Given the description of an element on the screen output the (x, y) to click on. 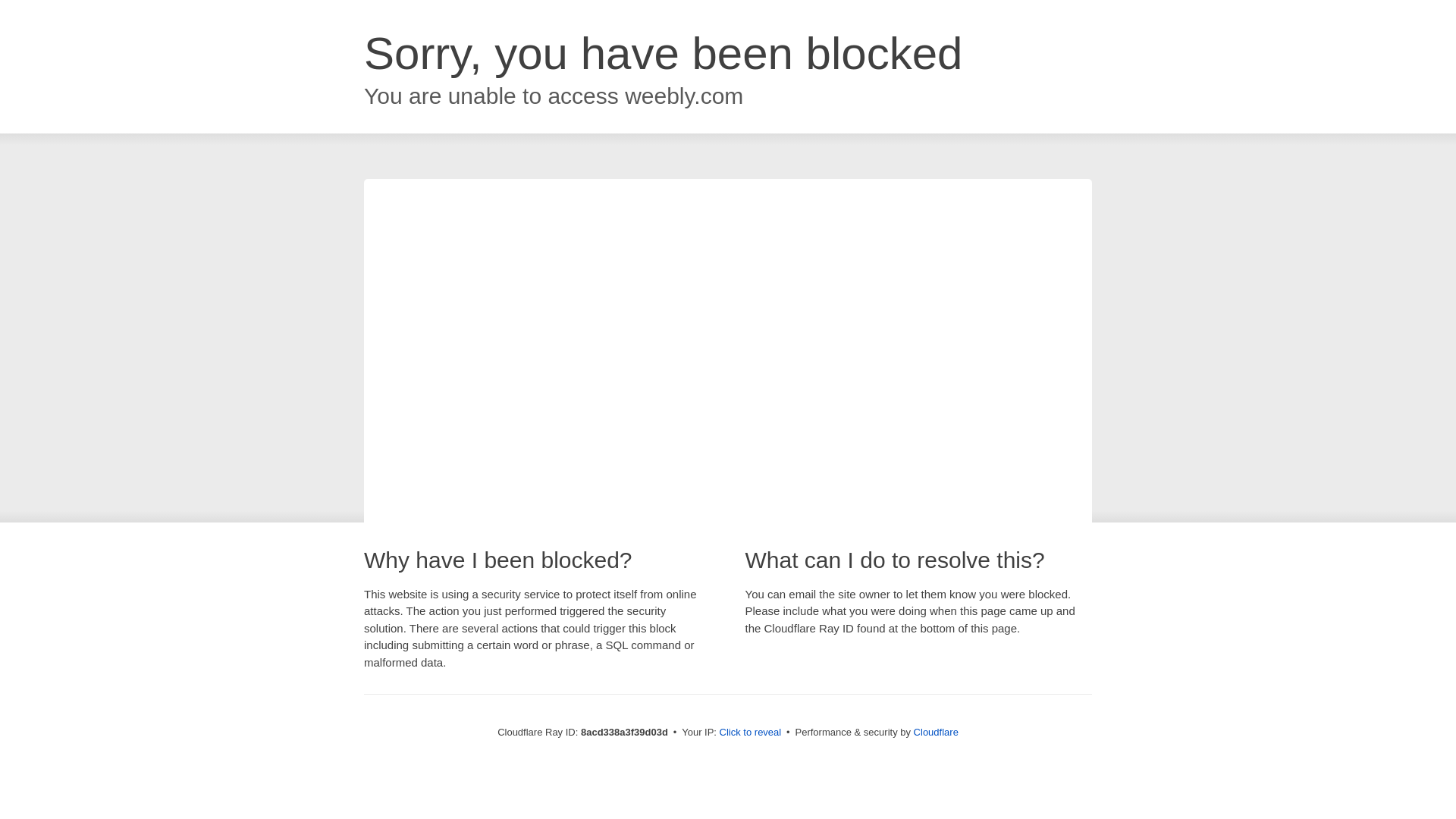
Click to reveal (750, 732)
Cloudflare (936, 731)
